Given the description of an element on the screen output the (x, y) to click on. 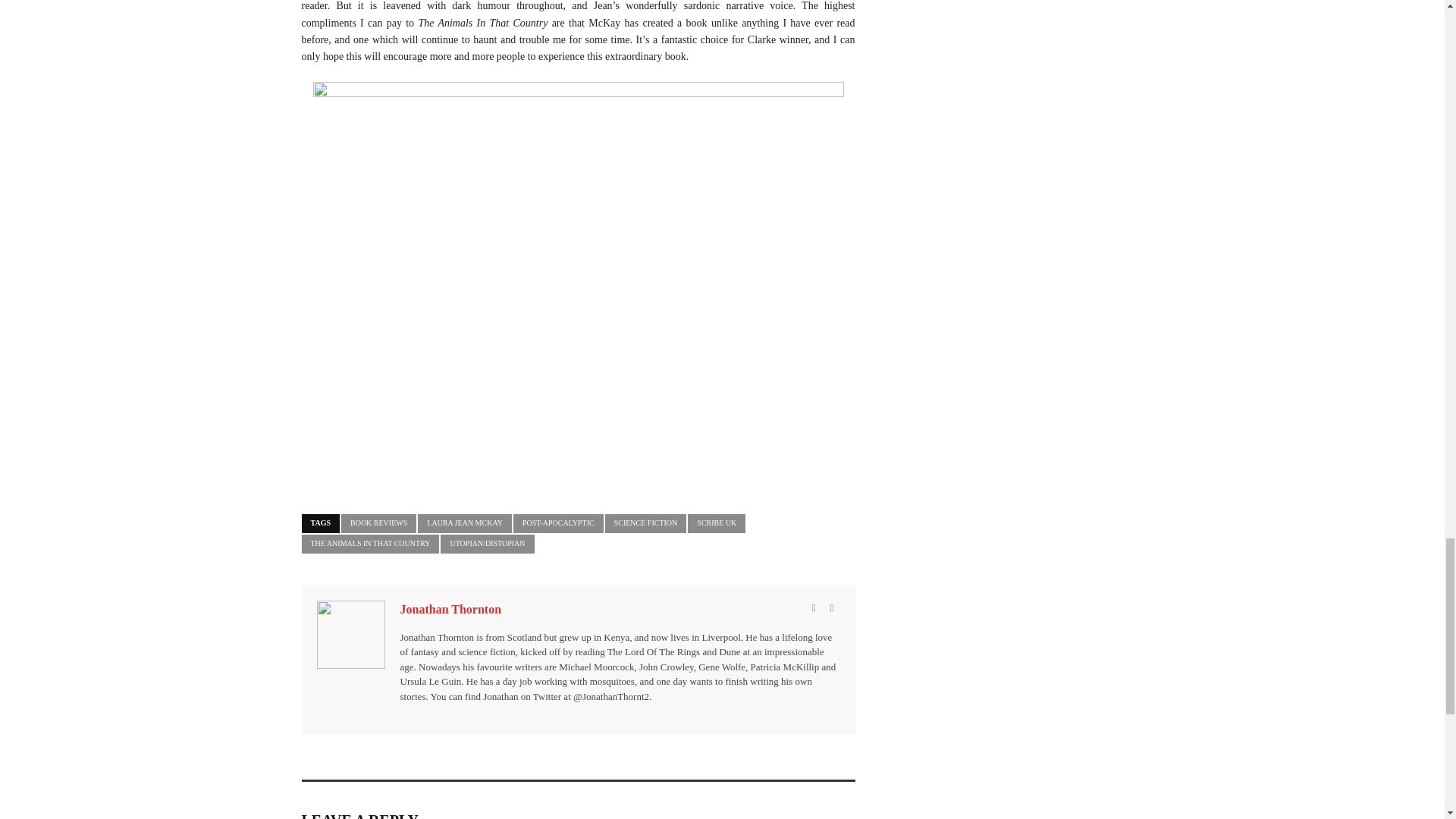
View all posts tagged Science Fiction (646, 523)
View all posts tagged Laura Jean McKay (464, 523)
View all posts tagged Book Reviews (378, 523)
View all posts tagged Post-Apocalyptic (558, 523)
View all posts tagged The Animals in that Country (370, 543)
View all posts tagged Scribe UK (716, 523)
